Given the description of an element on the screen output the (x, y) to click on. 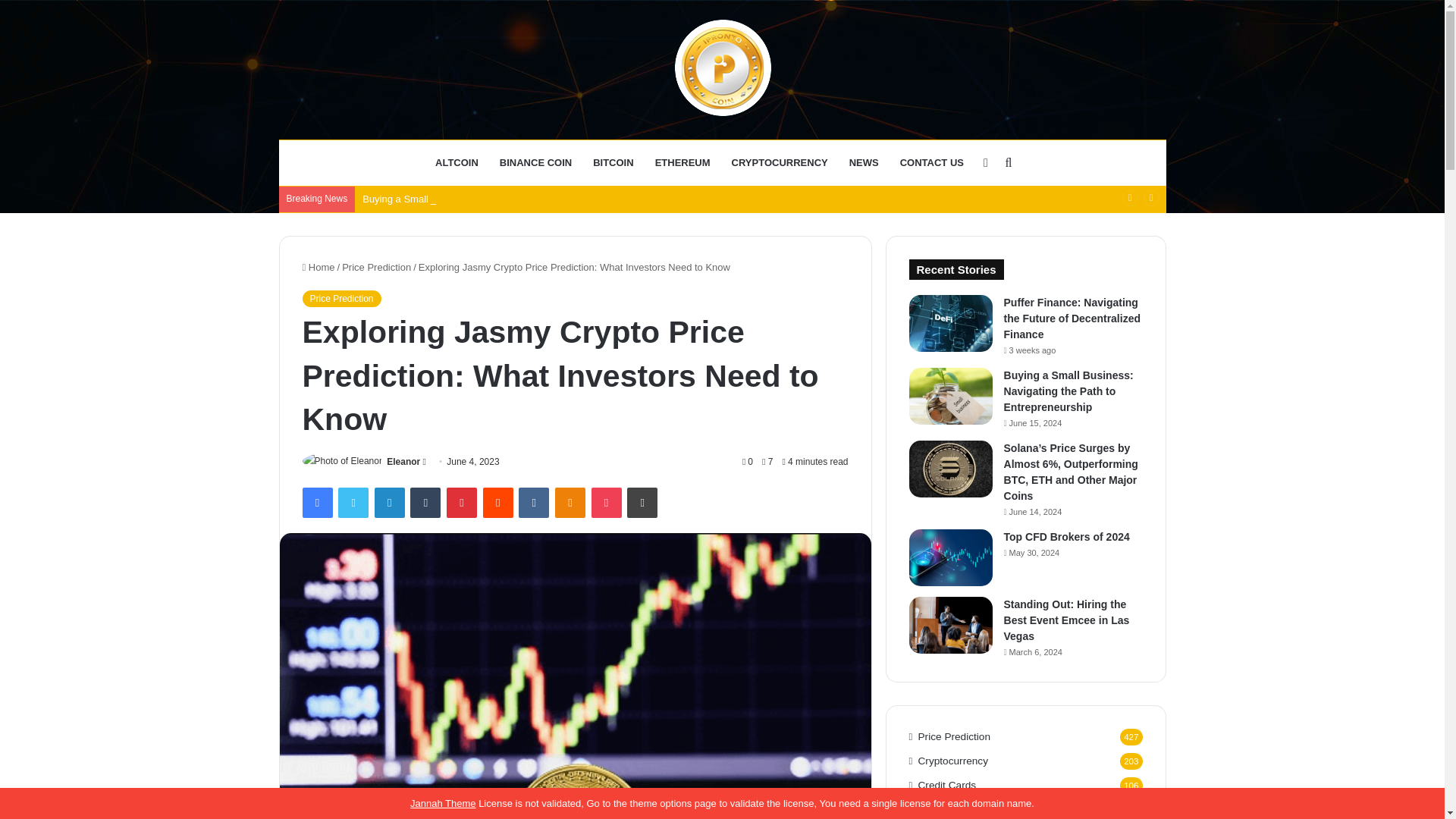
Pinterest (461, 502)
ETHEREUM (682, 162)
iPron to Coin (722, 68)
Tumblr (425, 502)
Pocket (606, 502)
Reddit (498, 502)
Odnoklassniki (569, 502)
Print (642, 502)
Print (642, 502)
Eleanor (403, 461)
